Given the description of an element on the screen output the (x, y) to click on. 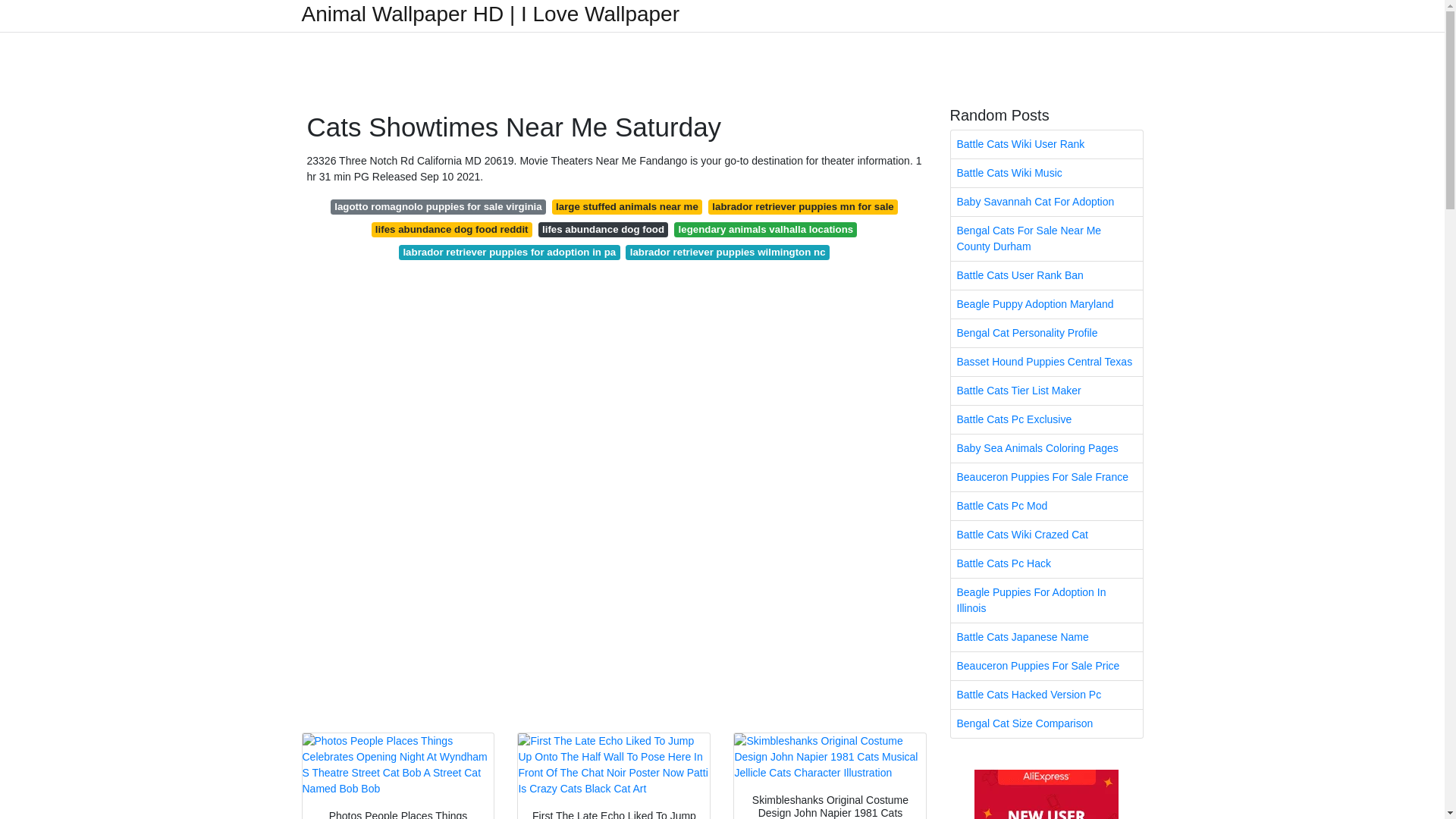
Battle Cats Pc Exclusive (1046, 419)
labrador retriever puppies for adoption in pa (509, 252)
Bengal Cats For Sale Near Me County Durham (1046, 239)
Battle Cats Wiki Music (1046, 172)
lifes abundance dog food reddit (451, 229)
lagotto romagnolo puppies for sale virginia (438, 206)
Basset Hound Puppies Central Texas (1046, 361)
Battle Cats Tier List Maker (1046, 390)
legendary animals valhalla locations (765, 229)
Beagle Puppy Adoption Maryland (1046, 304)
